Given the description of an element on the screen output the (x, y) to click on. 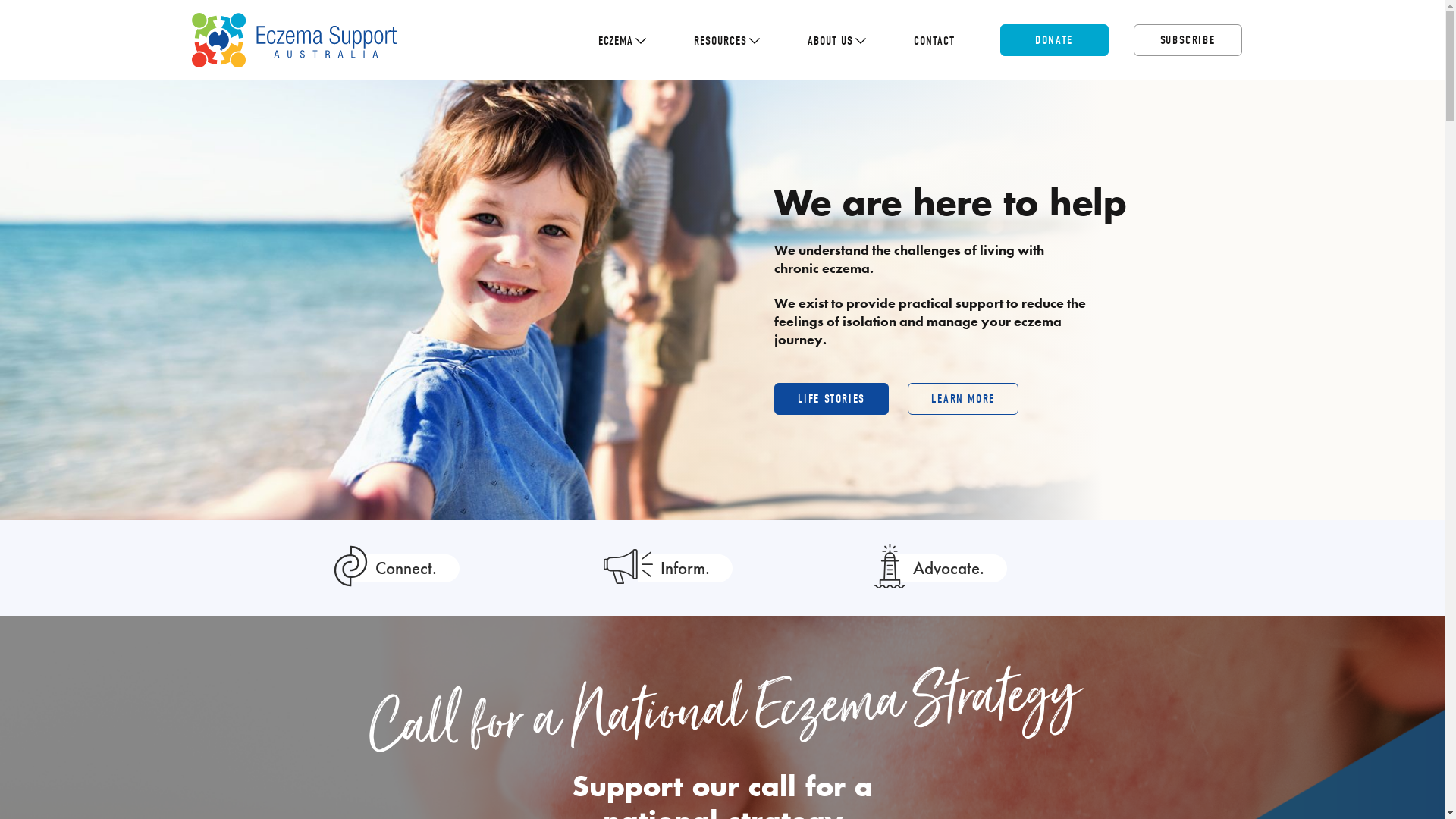
ABOUT US Element type: text (829, 46)
LEARN MORE Element type: text (962, 398)
LIFE STORIES Element type: text (830, 398)
CONTACT Element type: text (933, 40)
RESOURCES Element type: text (719, 46)
SUBSCRIBE Element type: text (1186, 40)
DONATE Element type: text (1053, 40)
ECZEMA Element type: text (614, 46)
